Given the description of an element on the screen output the (x, y) to click on. 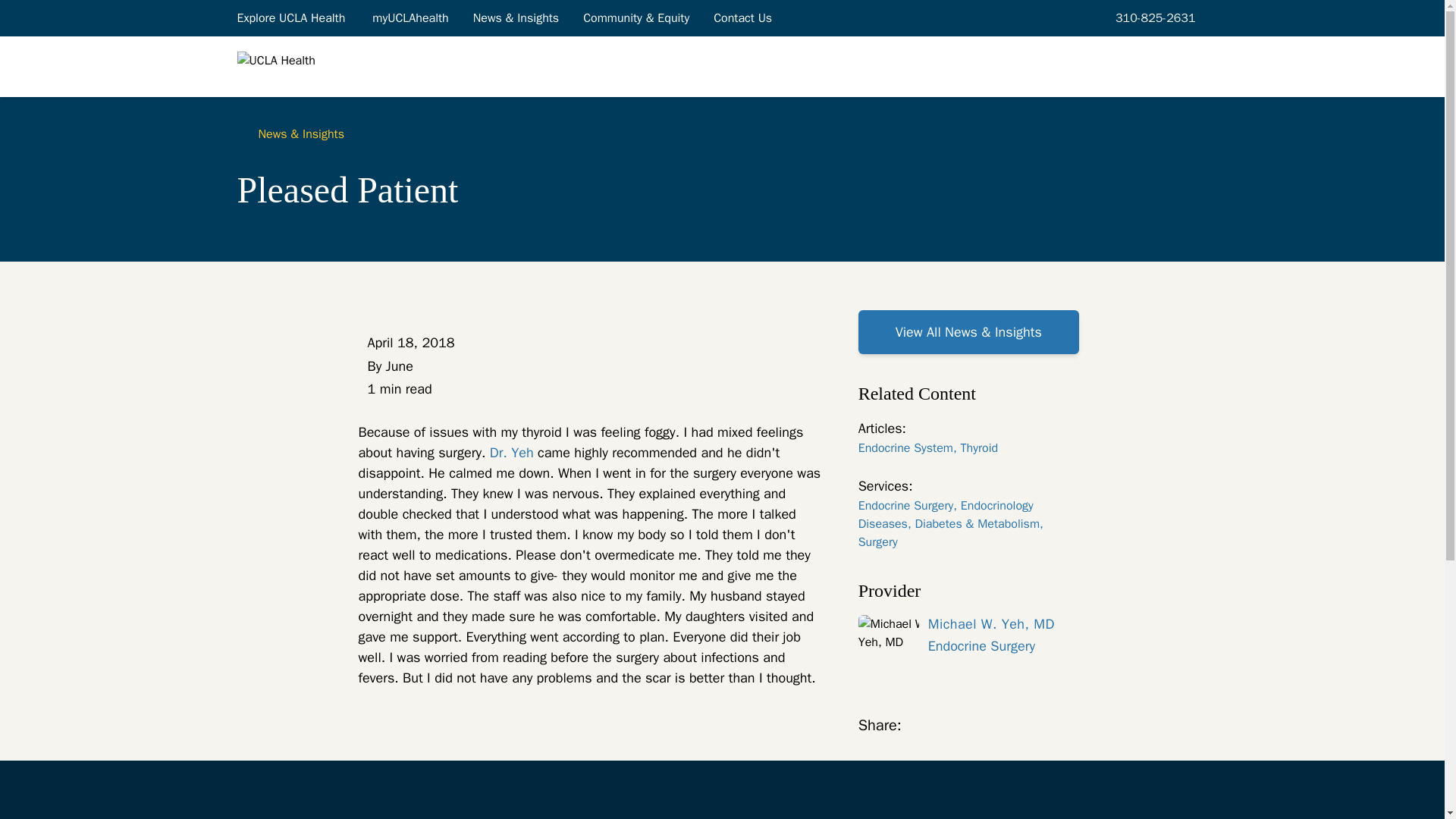
Contact Us (742, 17)
myUCLAhealth (409, 17)
Explore UCLA Health (291, 17)
Dr. Yeh (511, 452)
310-825-2631 (1152, 17)
myUCLAhealth Login. (409, 17)
